Given the description of an element on the screen output the (x, y) to click on. 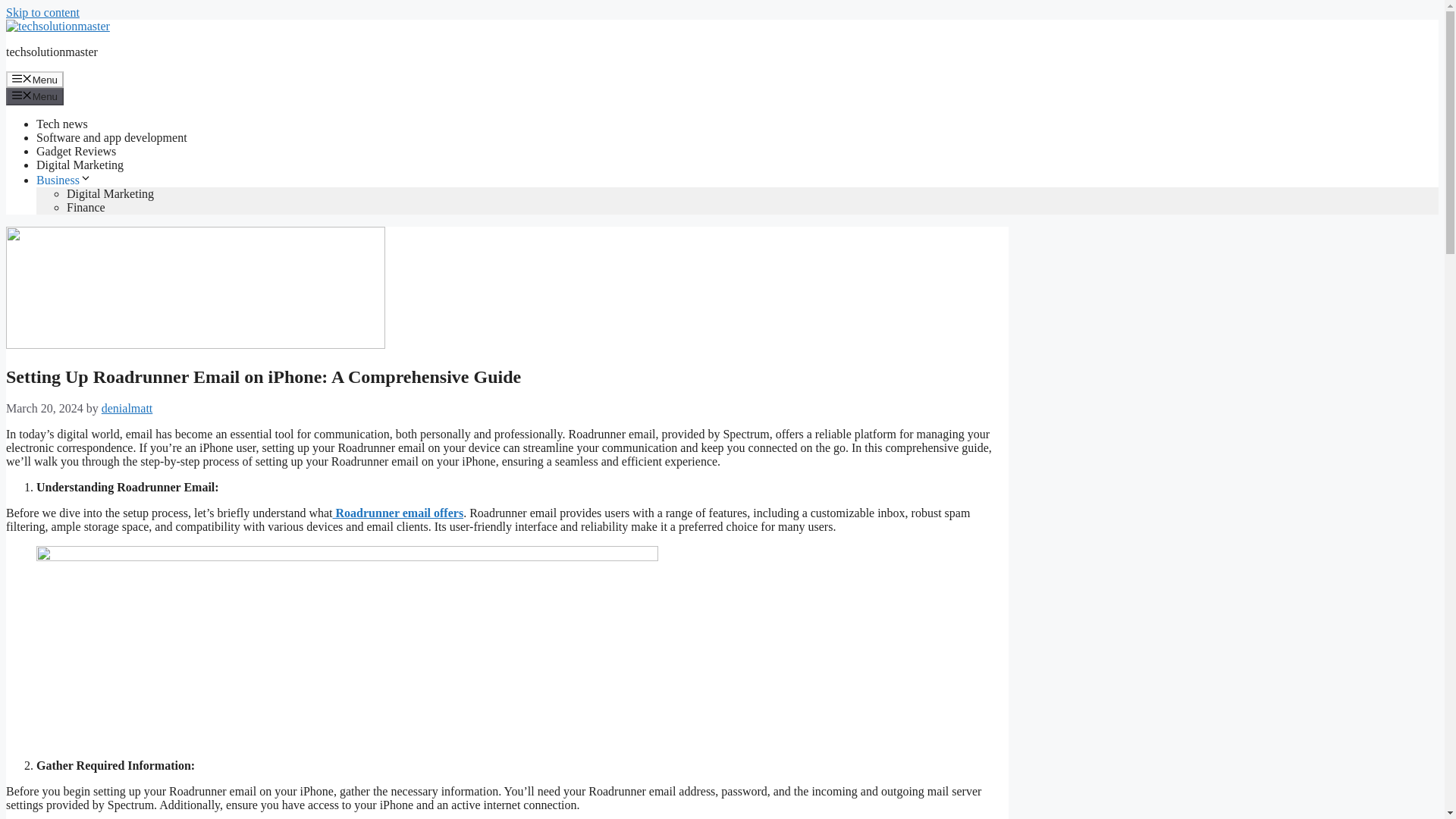
Gadget Reviews (76, 151)
Roadrunner email offers (398, 512)
Business (63, 179)
Menu (34, 95)
Software and app development (111, 137)
Digital Marketing (79, 164)
Digital Marketing (110, 193)
View all posts by denialmatt (126, 408)
Finance (85, 206)
Skip to content (42, 11)
denialmatt (126, 408)
Tech news (61, 123)
Menu (34, 79)
Skip to content (42, 11)
techsolutionmaster (51, 51)
